Given the description of an element on the screen output the (x, y) to click on. 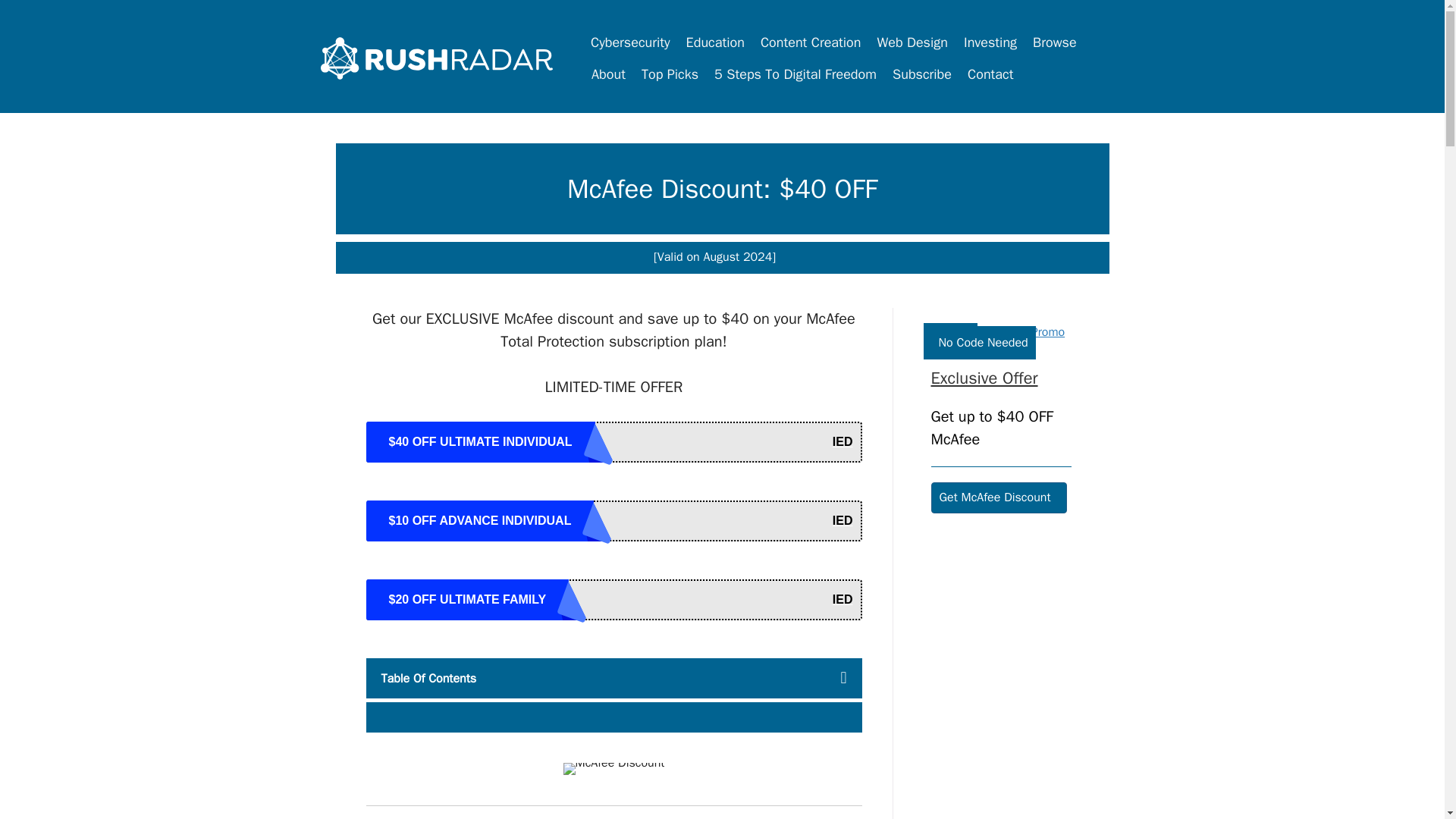
Cybersecurity (630, 42)
Education (715, 42)
Content Creation (810, 42)
McAfee Discount (614, 768)
Logo RushRadar Referral Codes Articles and Reviews (436, 57)
